Given the description of an element on the screen output the (x, y) to click on. 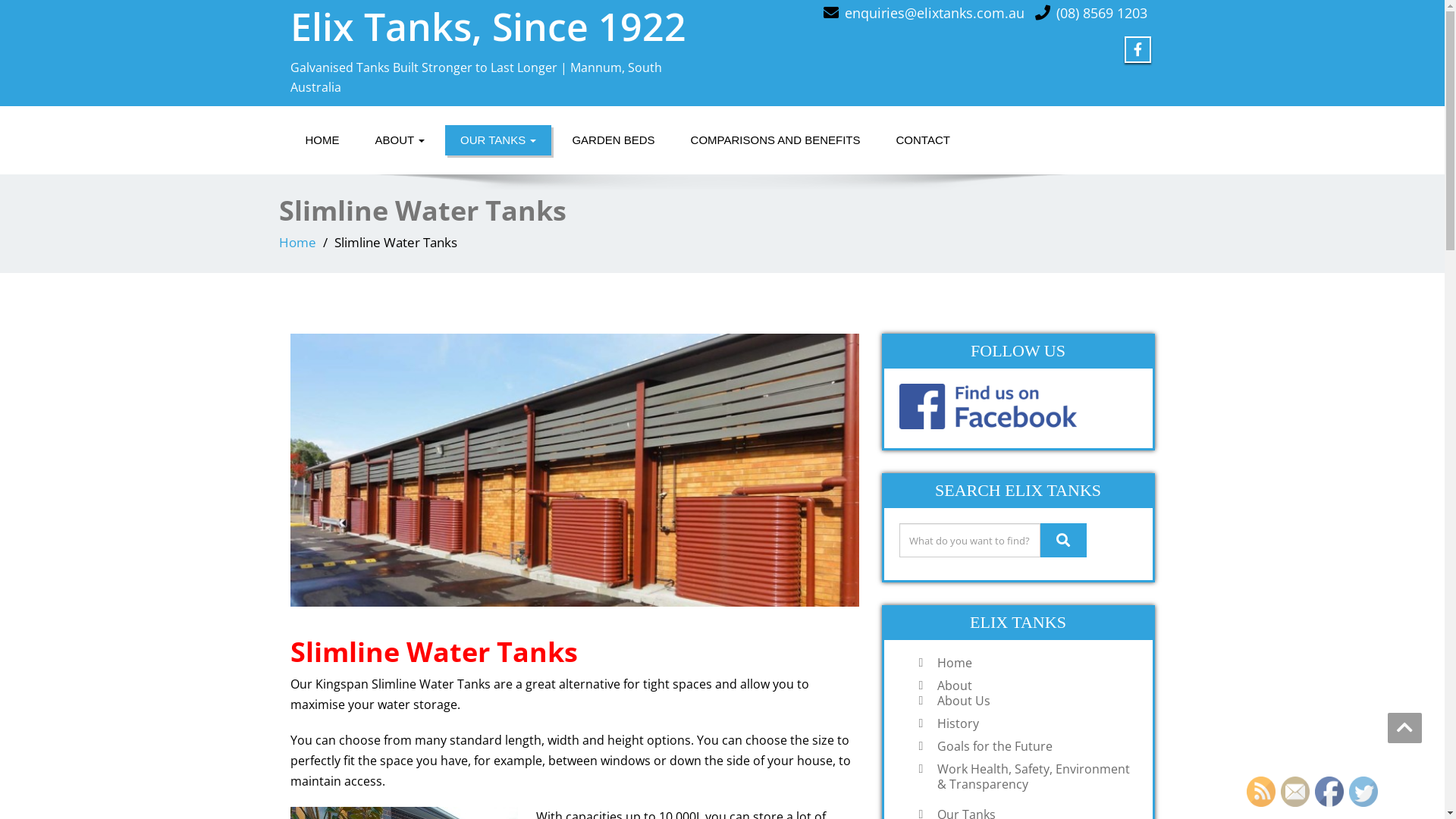
HOME Element type: text (321, 140)
Home Element type: text (1033, 662)
Elix Tanks, Since 1922 Element type: text (487, 26)
OUR TANKS Element type: text (498, 140)
Go Top Element type: hover (1404, 727)
Work Health, Safety, Environment & Transparency Element type: text (1033, 776)
About Us Element type: text (1033, 700)
(08) 8569 1203 Element type: text (1100, 12)
Twitter Element type: hover (1363, 791)
Home Element type: text (297, 242)
Follow by Email Element type: hover (1294, 791)
COMPARISONS AND BENEFITS Element type: text (775, 140)
Goals for the Future Element type: text (1033, 745)
Facebook Element type: hover (1328, 791)
ABOUT Element type: text (399, 140)
enquiries@elixtanks.com.au Element type: text (934, 12)
GARDEN BEDS Element type: text (612, 140)
History Element type: text (1033, 723)
About Element type: text (1033, 685)
RSS Element type: hover (1260, 791)
CONTACT Element type: text (923, 140)
